Given the description of an element on the screen output the (x, y) to click on. 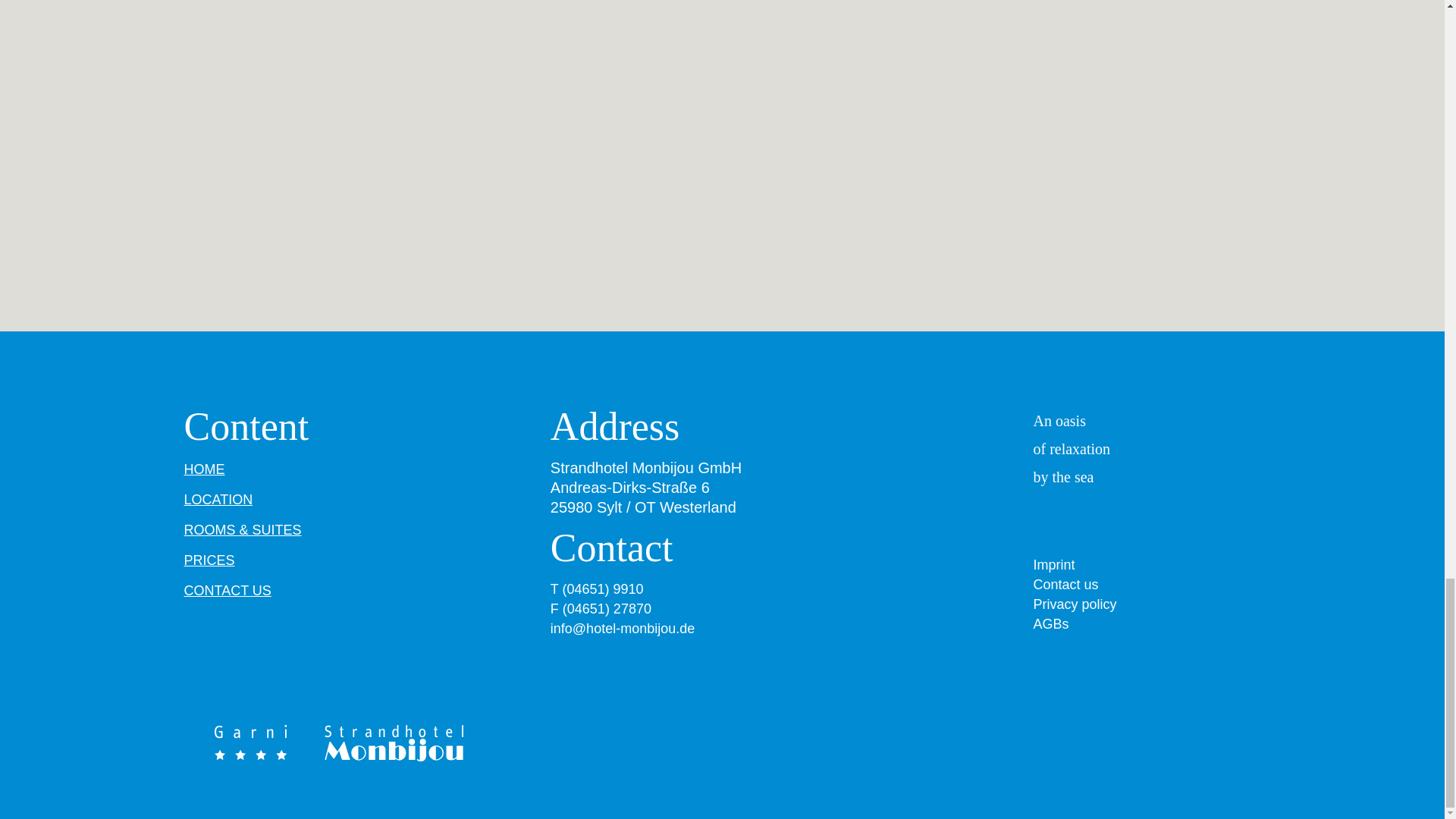
CONTACT US (226, 590)
PRICES (208, 560)
LOCATION (217, 499)
HOME (203, 468)
